Given the description of an element on the screen output the (x, y) to click on. 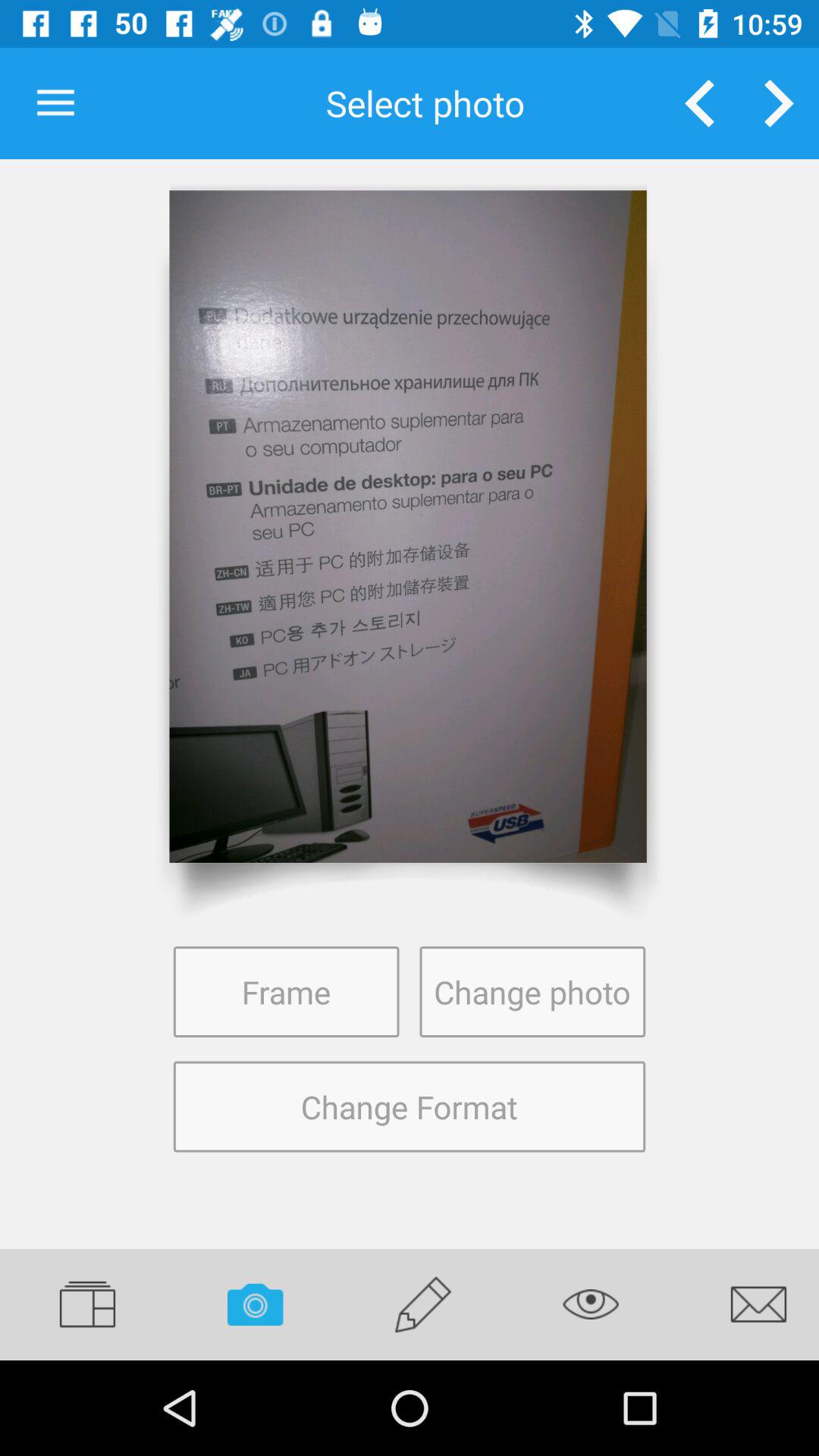
click the item below the select photo icon (407, 526)
